Given the description of an element on the screen output the (x, y) to click on. 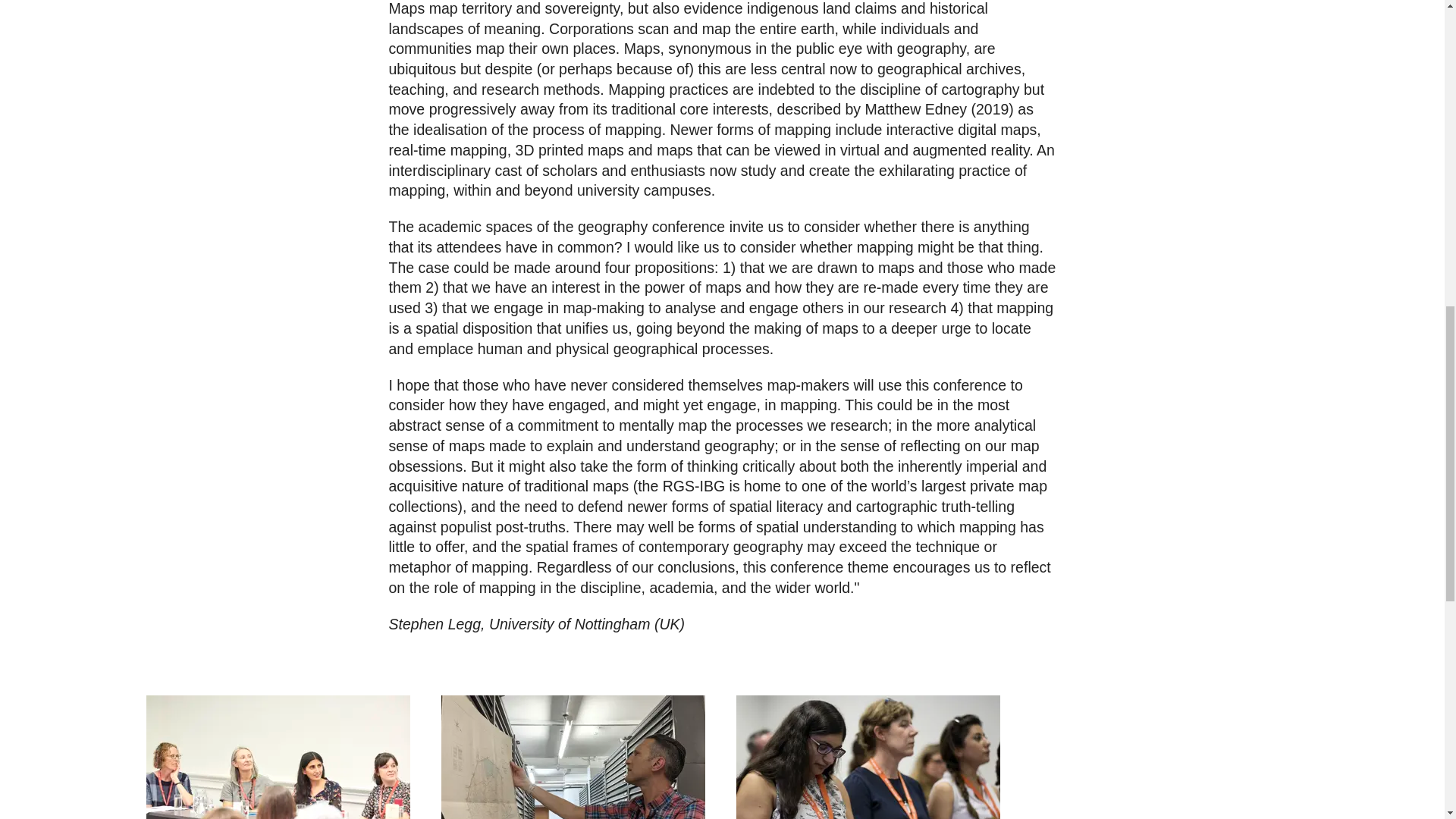
Programme highlights (869, 757)
Chair's plenary conversations (279, 757)
Chair's map room conversations (575, 757)
